Given the description of an element on the screen output the (x, y) to click on. 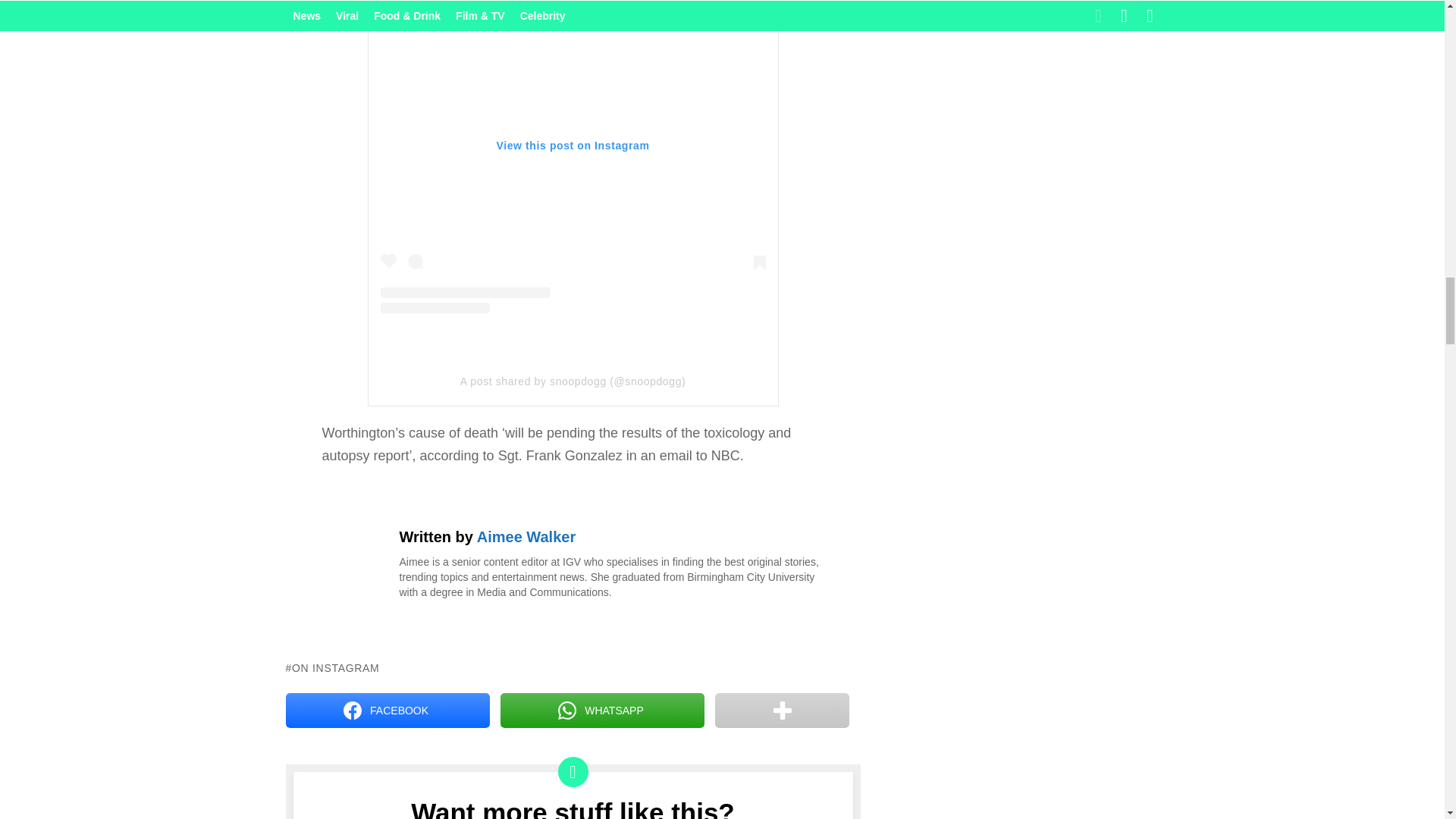
Share on More Button (781, 710)
Share on WhatsApp (602, 710)
Share on Facebook (387, 710)
